Given the description of an element on the screen output the (x, y) to click on. 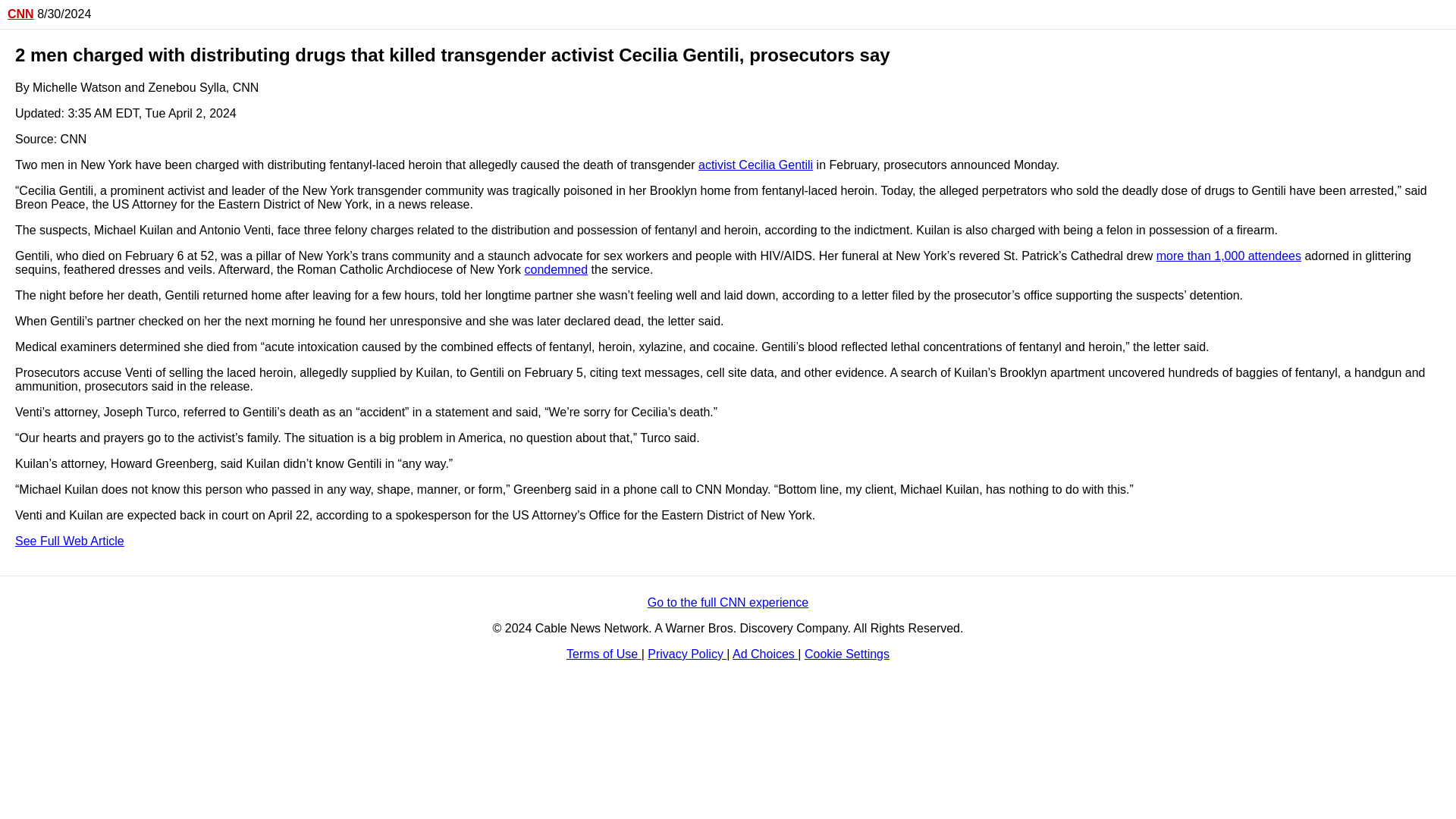
Privacy Policy (686, 653)
See Full Web Article (68, 540)
Ad Choices (764, 653)
Cookie Settings (847, 653)
Terms of Use (604, 653)
activist Cecilia Gentili (755, 164)
more than 1,000 attendees (1228, 255)
CNN (20, 13)
Go to the full CNN experience (728, 602)
condemned (556, 269)
